Given the description of an element on the screen output the (x, y) to click on. 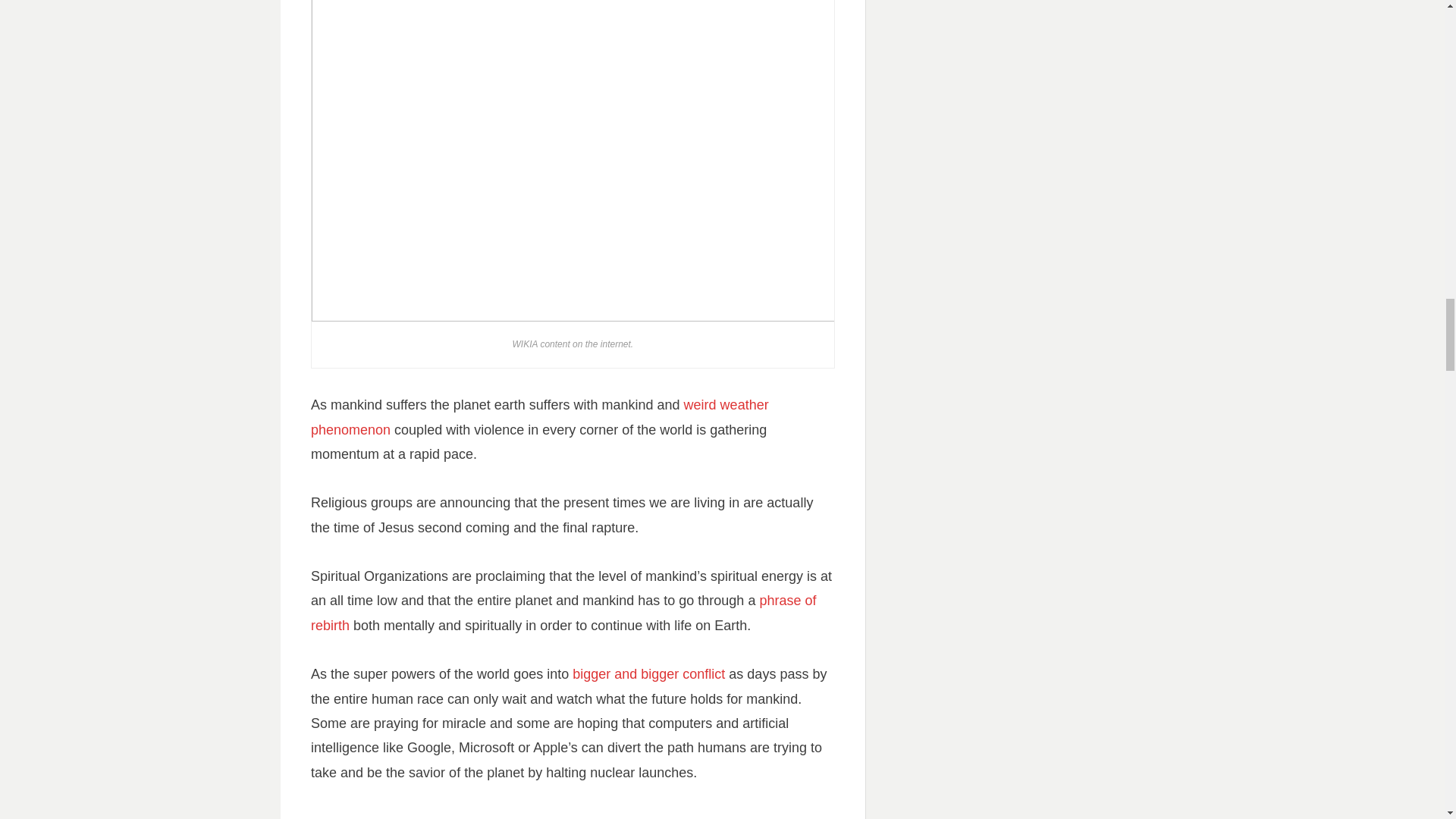
Lord Of War - Interrogation Scene (572, 814)
phrase of rebirth (563, 612)
bigger and bigger conflict (648, 673)
weird weather phenomenon (539, 416)
